Given the description of an element on the screen output the (x, y) to click on. 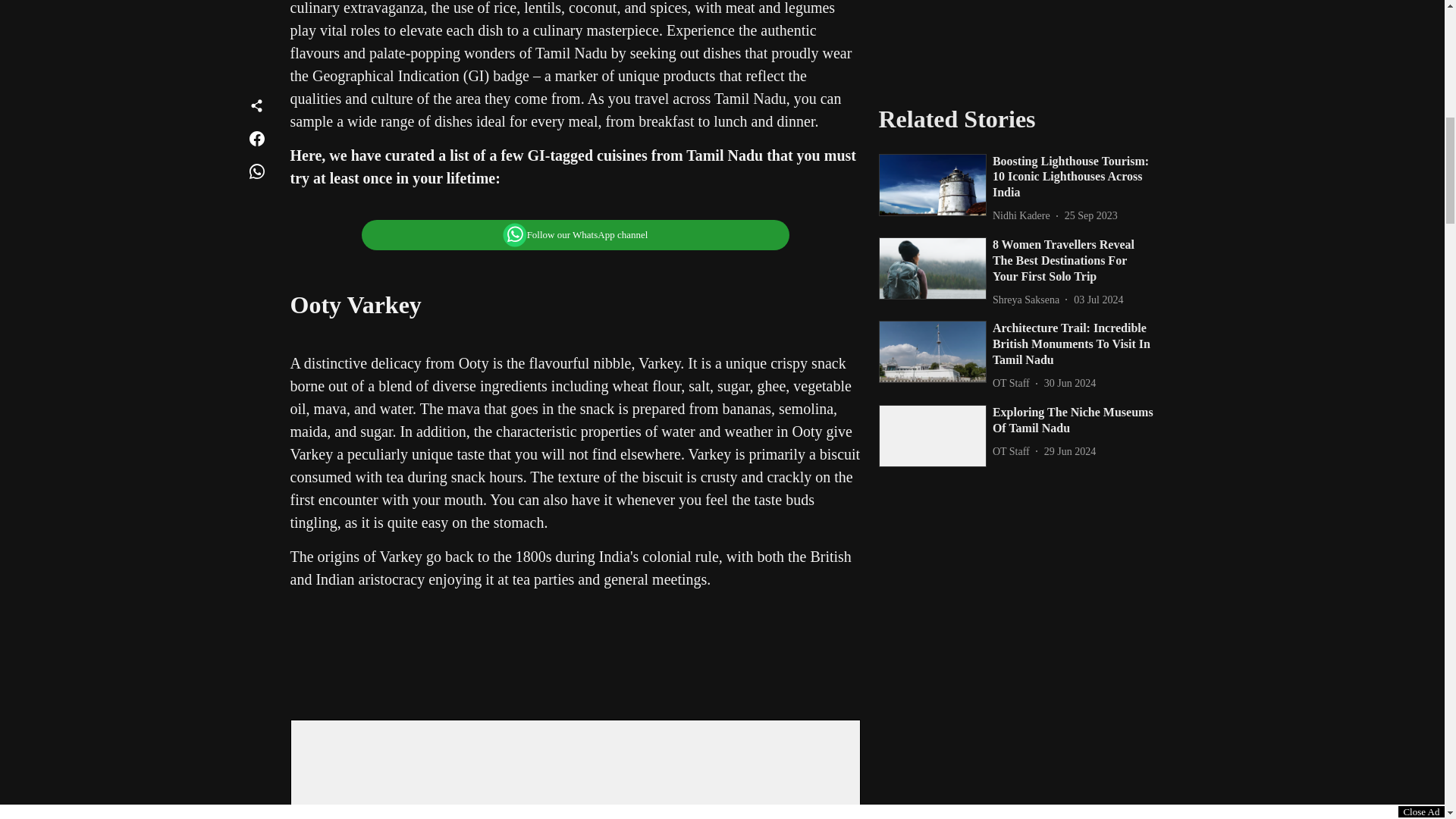
2024-06-29 09:41 (1069, 70)
3rd party ad content (574, 654)
Follow our WhatsApp channel (575, 235)
2024-06-30 05:15 (1069, 5)
